Given the description of an element on the screen output the (x, y) to click on. 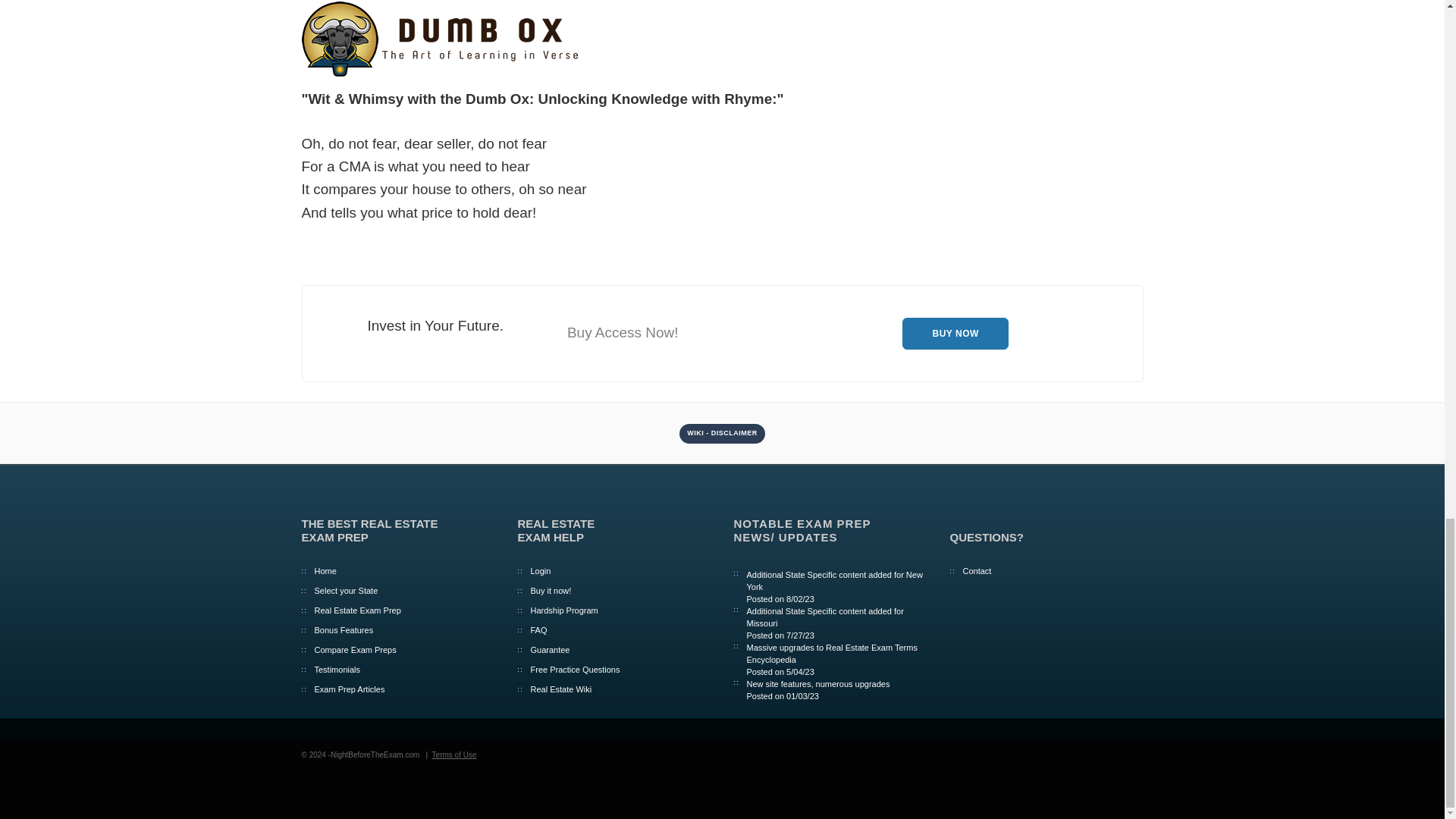
Learning in Verse (442, 38)
